Given the description of an element on the screen output the (x, y) to click on. 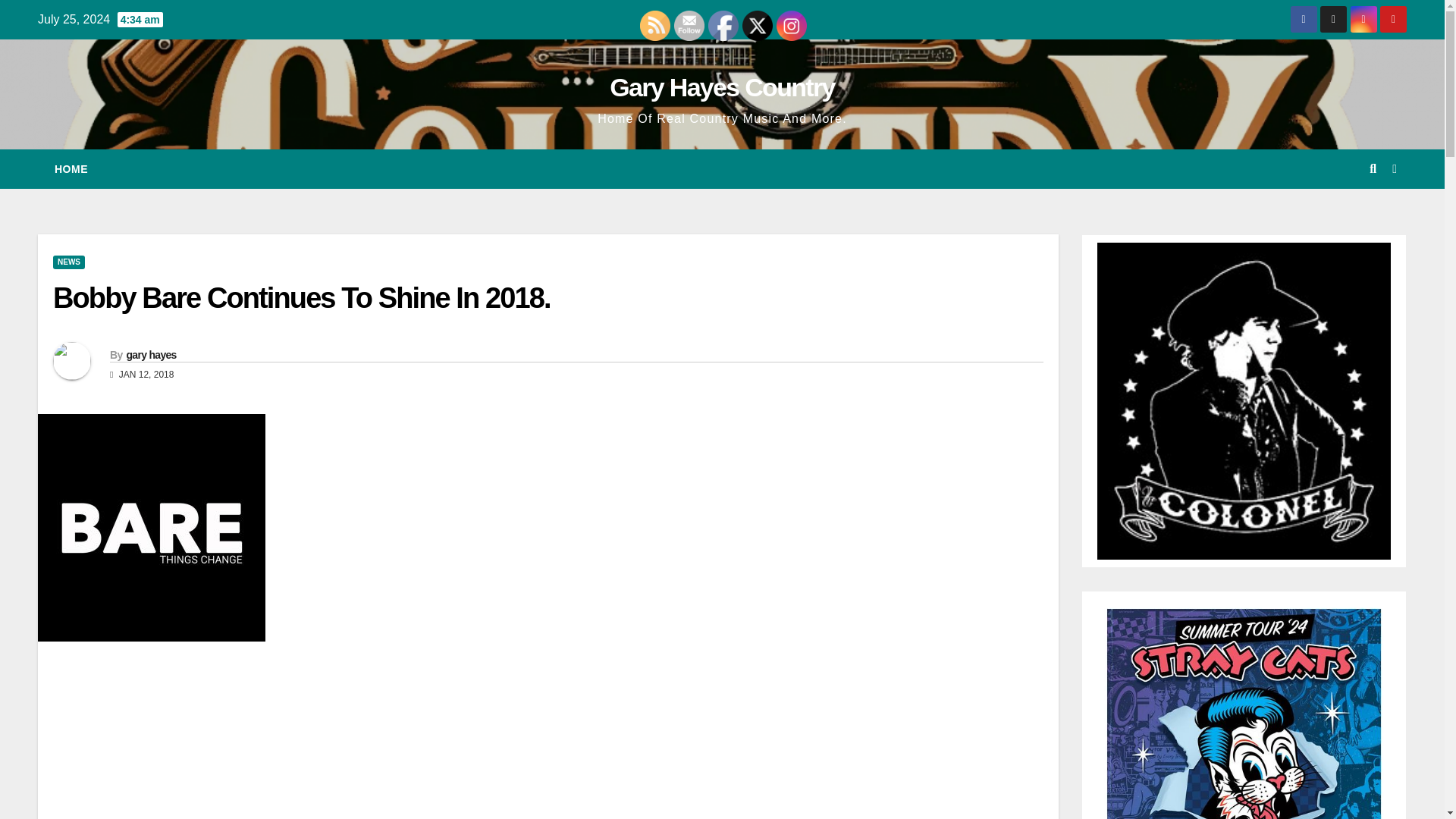
Stray (1243, 780)
NEWS (68, 262)
Permalink to: Bobby Bare Continues To Shine In 2018. (301, 297)
HOME (70, 169)
Home (70, 169)
gary hayes (150, 354)
colonel (1243, 400)
Bobby Bare Continues To Shine In 2018. (301, 297)
Gary Hayes Country (722, 86)
